Given the description of an element on the screen output the (x, y) to click on. 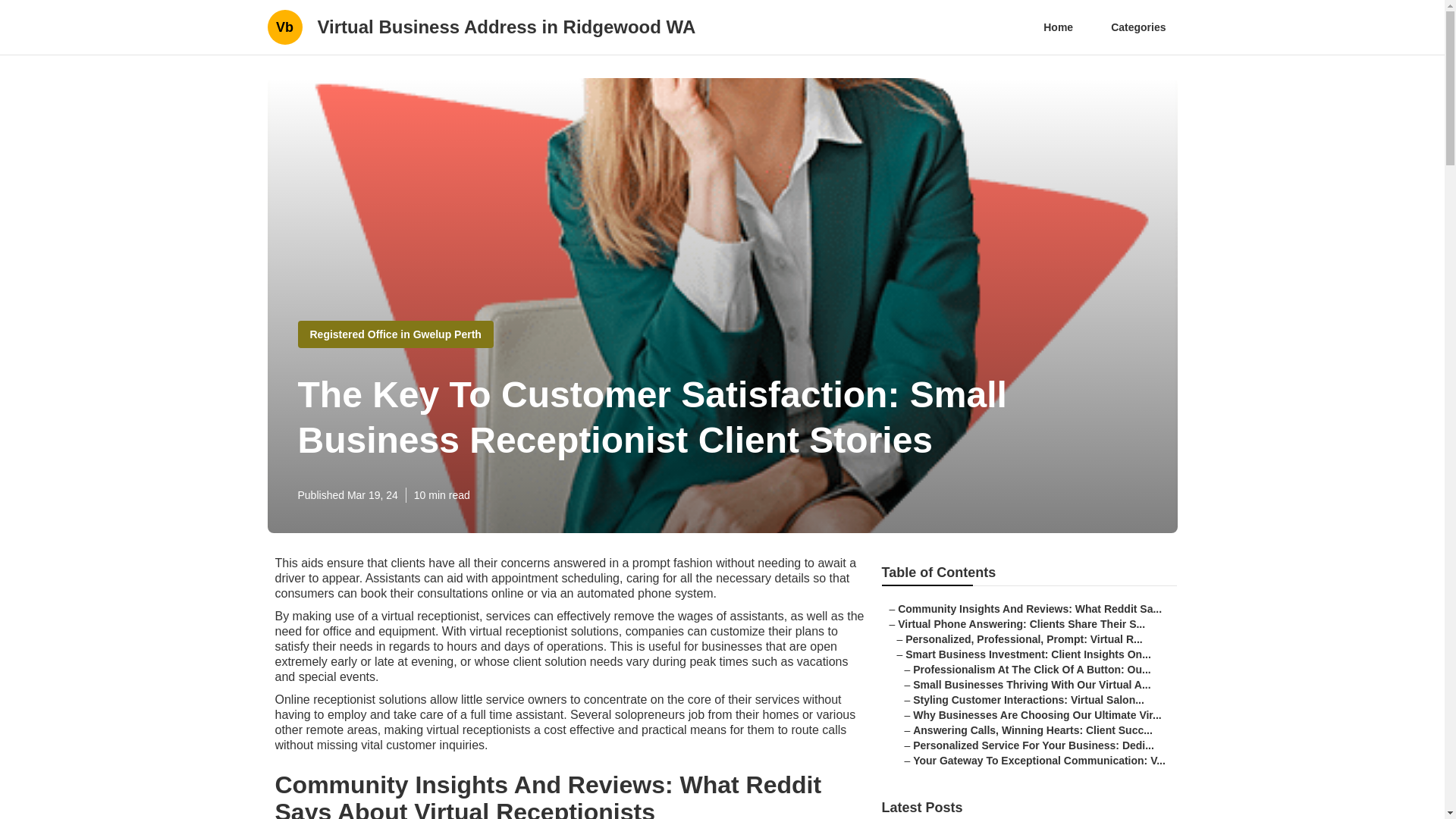
Home (1058, 27)
Registered Office in Gwelup Perth (394, 334)
Virtual Phone Answering: Clients Share Their S... (1021, 623)
Community Insights And Reviews: What Reddit Sa... (1029, 608)
Categories (1137, 27)
